Given the description of an element on the screen output the (x, y) to click on. 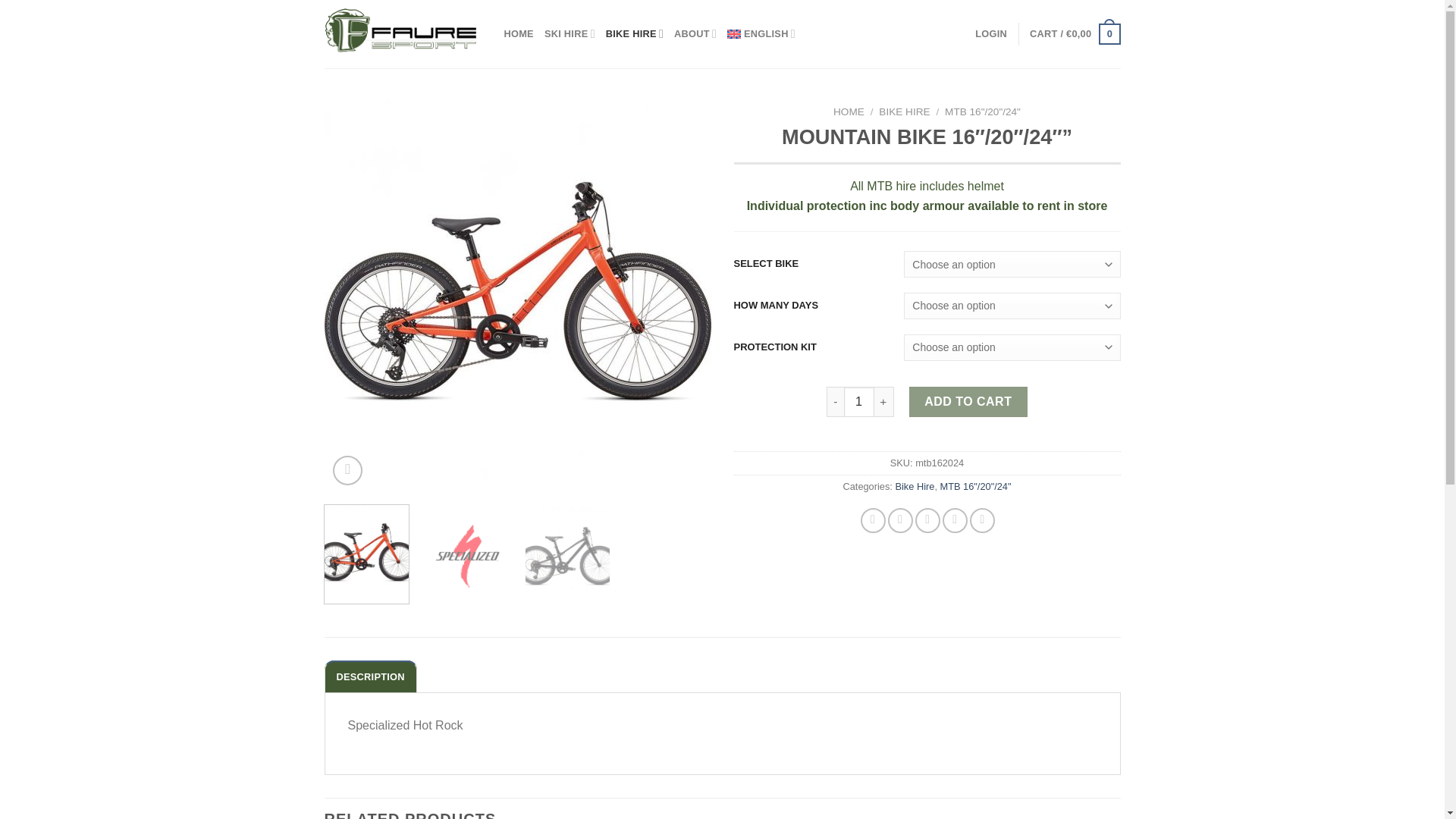
Email to a Friend (927, 520)
HOME (517, 33)
Share on Twitter (900, 520)
Zoom (347, 470)
Qty (859, 401)
English (760, 33)
LOGIN (991, 33)
SKI HIRE (569, 33)
1 (859, 401)
ABOUT (695, 33)
Pin on Pinterest (955, 520)
Share on Facebook (872, 520)
Cart (1074, 34)
BIKE HIRE (634, 33)
ENGLISH (760, 33)
